Given the description of an element on the screen output the (x, y) to click on. 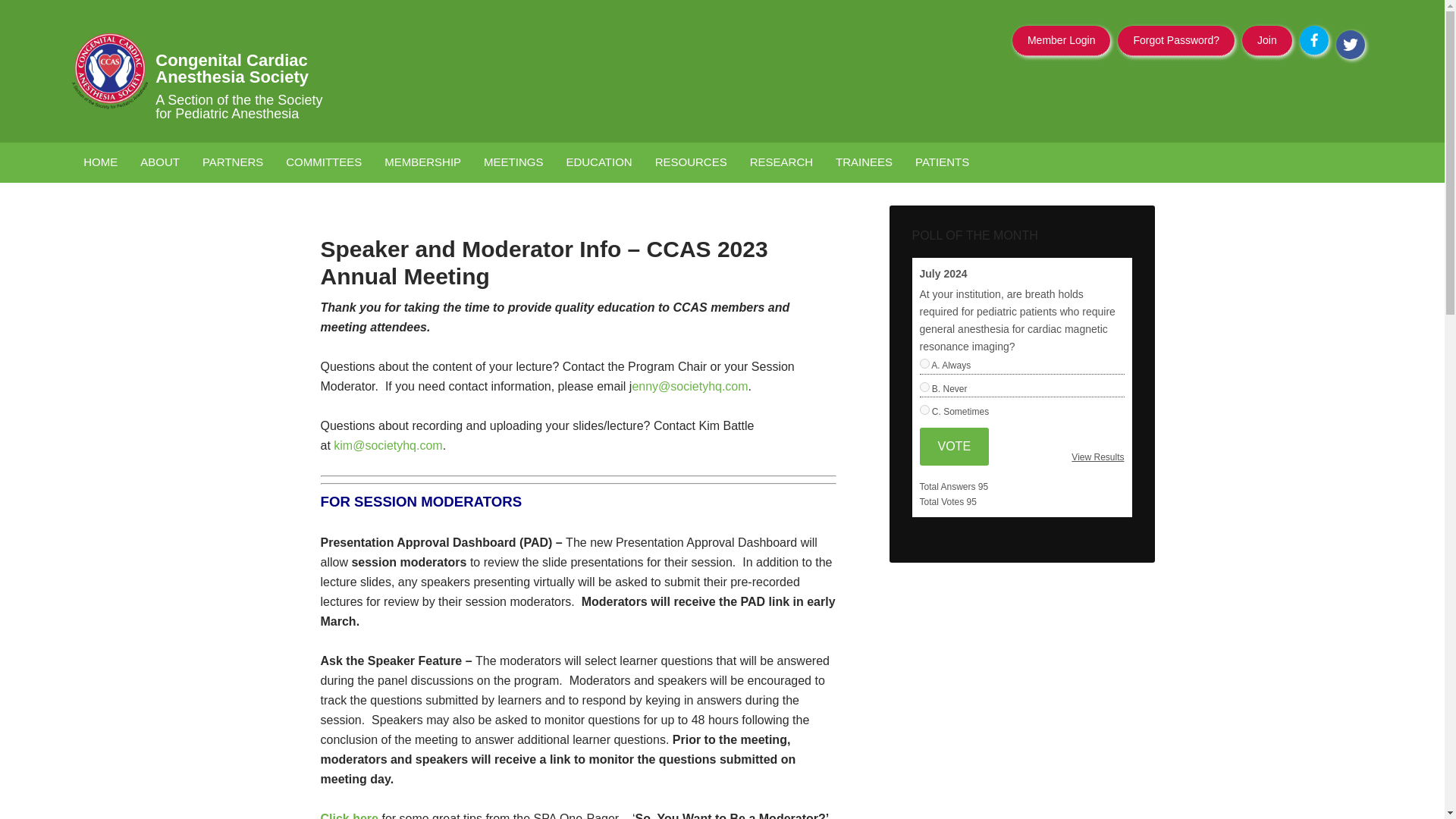
Member Login (1061, 40)
PARTNERS (232, 162)
HOME (100, 162)
455 (923, 387)
Homepage (242, 70)
Join (1266, 40)
COMMITTEES (323, 162)
454 (923, 363)
456 (923, 409)
Forgot Password? (1176, 40)
ABOUT (159, 162)
